Given the description of an element on the screen output the (x, y) to click on. 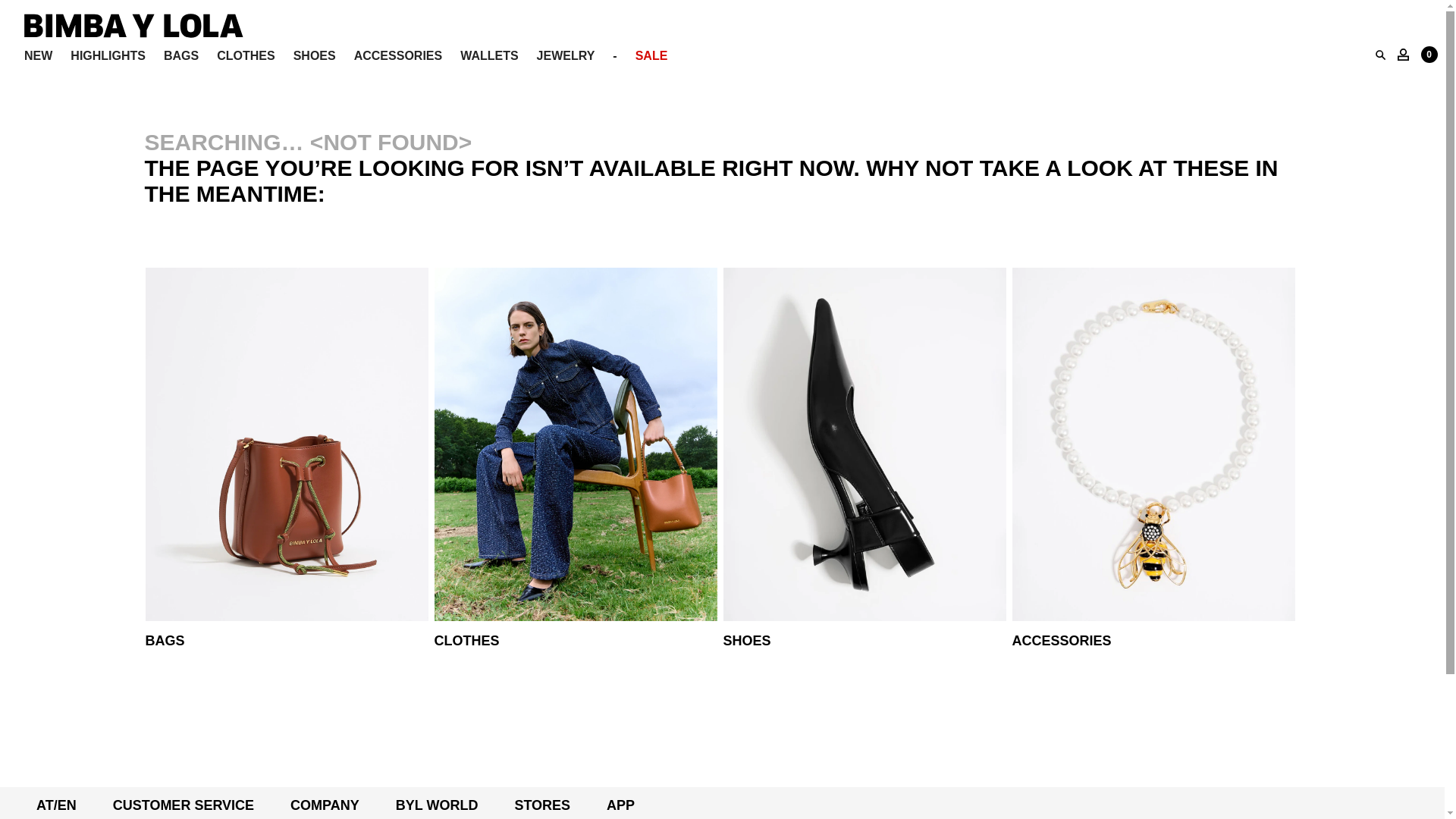
Search (1380, 54)
HIGHLIGHTS (107, 56)
Shopping bag (1429, 54)
My Account (1403, 54)
CLOTHES (245, 56)
BIMBA Y LOLA (133, 33)
BIMBA Y LOLA (133, 25)
BIMBA Y LOLA Home (133, 33)
SHOES (315, 56)
NEW (38, 56)
